Given the description of an element on the screen output the (x, y) to click on. 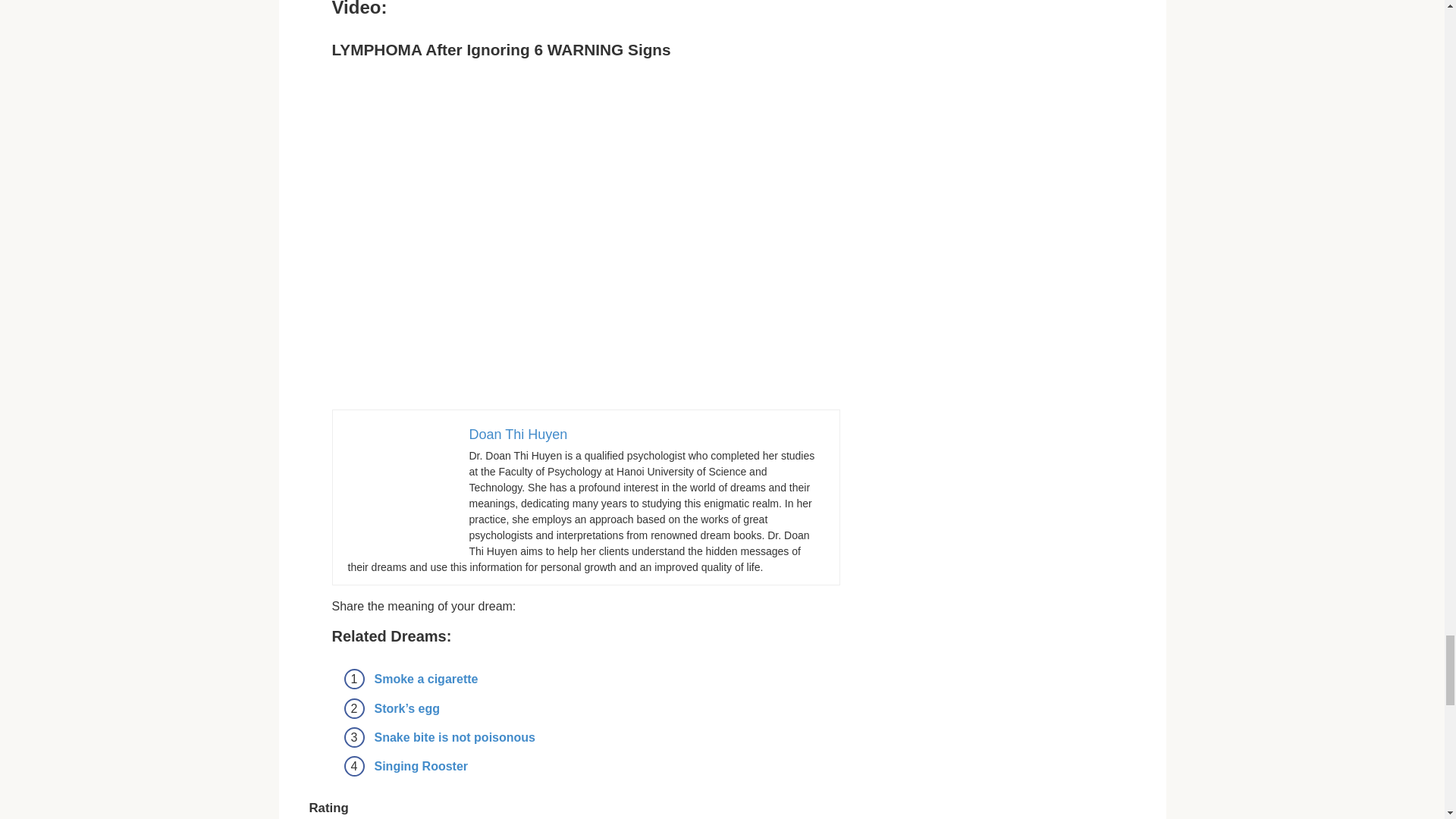
Snake bite is not poisonous (454, 737)
Singing Rooster (421, 766)
Smoke a cigarette (426, 678)
